Given the description of an element on the screen output the (x, y) to click on. 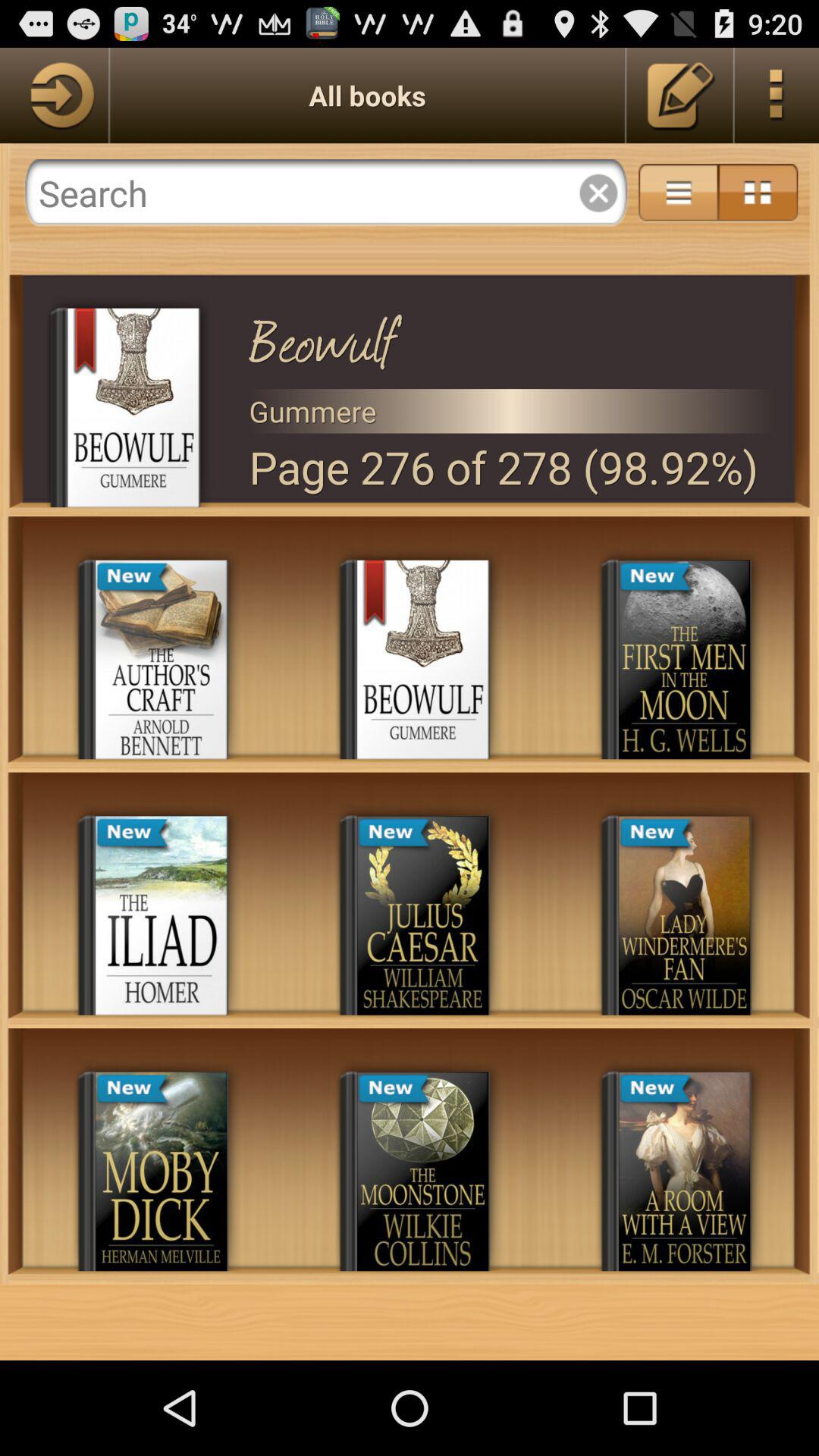
change to gallery view (757, 192)
